Given the description of an element on the screen output the (x, y) to click on. 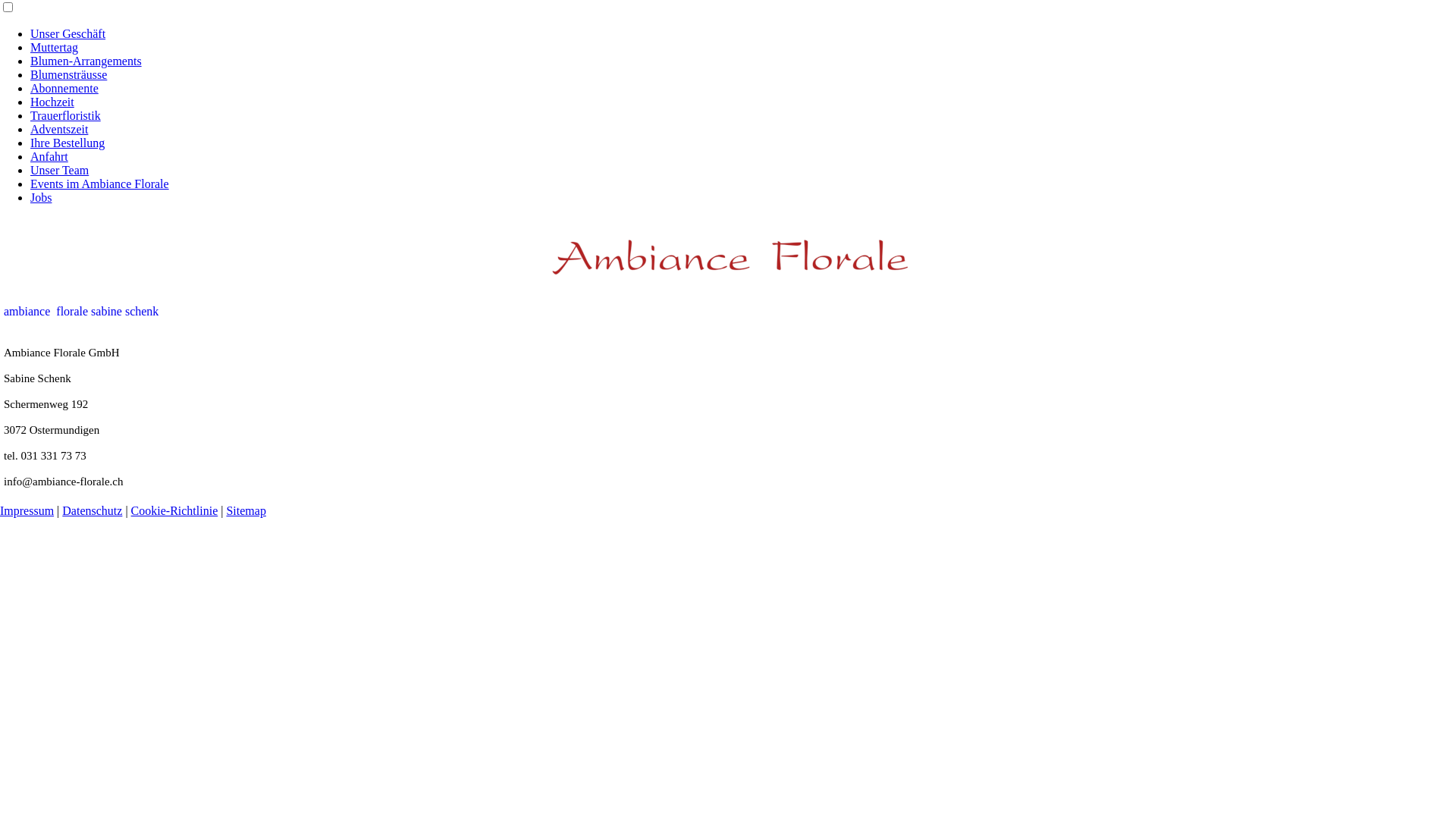
Ihre Bestellung Element type: text (67, 142)
Muttertag Element type: text (54, 46)
Adventszeit Element type: text (58, 128)
Events im Ambiance Florale Element type: text (99, 183)
Jobs Element type: text (40, 197)
Anfahrt Element type: text (49, 156)
Unser Team Element type: text (59, 169)
Abonnemente Element type: text (64, 87)
ambiance  florale sabine schenk Element type: text (80, 310)
Trauerfloristik Element type: text (65, 115)
Cookie-Richtlinie Element type: text (174, 510)
Sitemap Element type: text (245, 510)
Impressum Element type: text (26, 510)
Datenschutz Element type: text (92, 510)
Hochzeit Element type: text (52, 101)
Blumen-Arrangements Element type: text (85, 60)
